Given the description of an element on the screen output the (x, y) to click on. 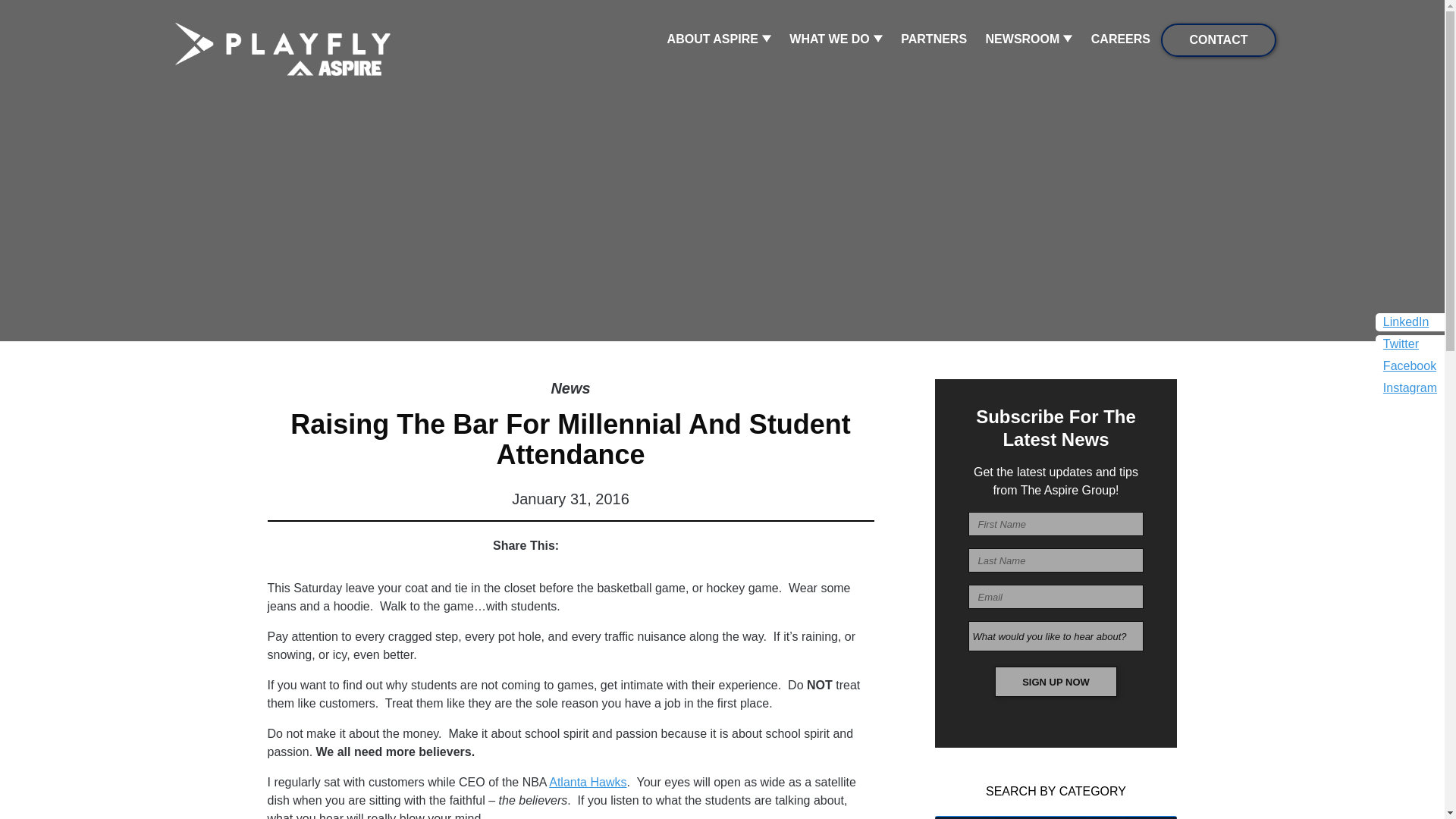
ABOUT ASPIRE (718, 39)
NEWSROOM (1029, 39)
PARTNERS (933, 39)
CONTACT (1217, 39)
Twitter (1400, 343)
LinkedIn (1406, 321)
Facebook (1409, 365)
WHAT WE DO (835, 39)
CAREERS (1120, 39)
